Given the description of an element on the screen output the (x, y) to click on. 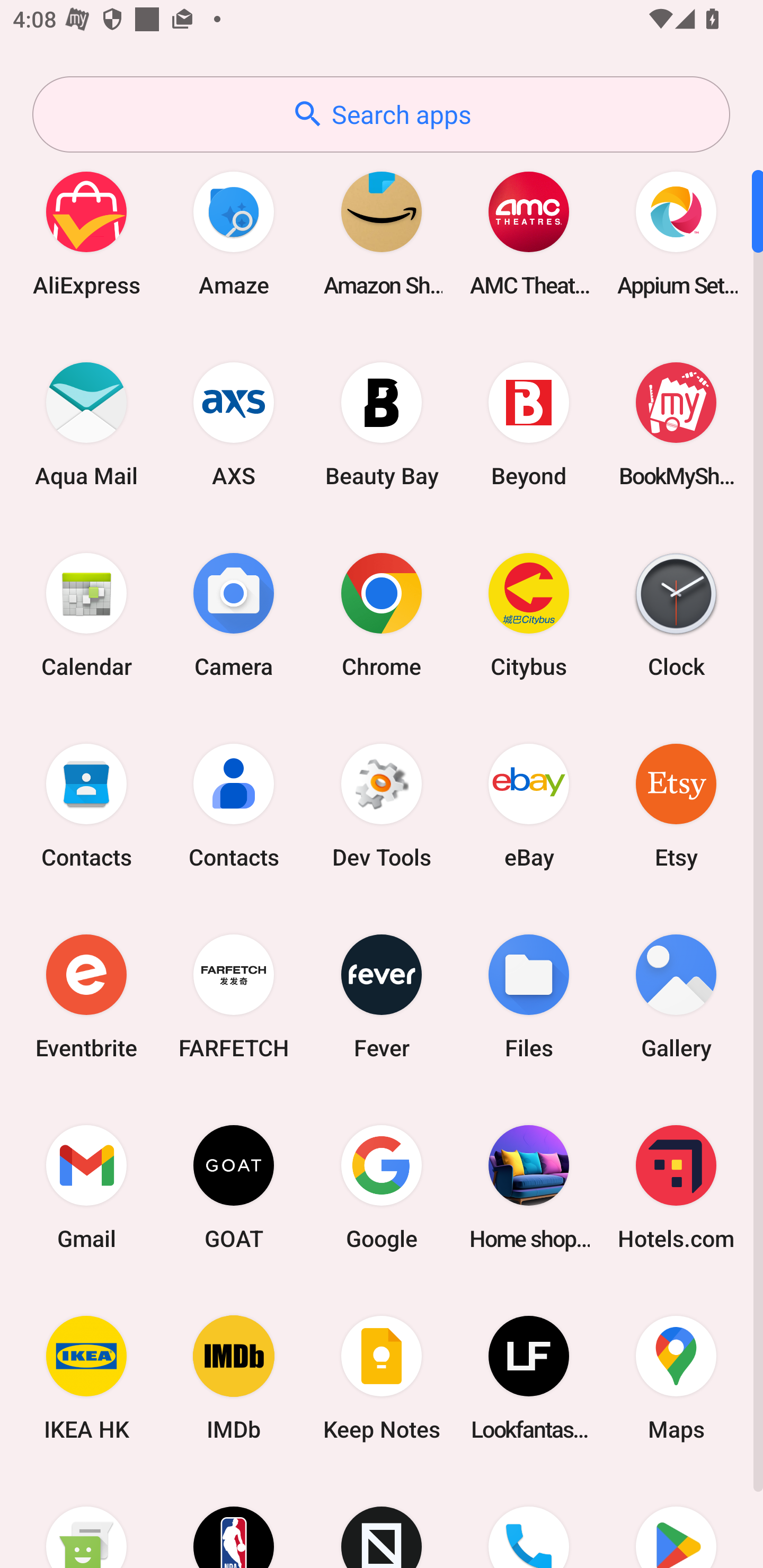
  Search apps (381, 114)
AliExpress (86, 233)
Amaze (233, 233)
Amazon Shopping (381, 233)
AMC Theatres (528, 233)
Appium Settings (676, 233)
Aqua Mail (86, 424)
AXS (233, 424)
Beauty Bay (381, 424)
Beyond (528, 424)
BookMyShow (676, 424)
Calendar (86, 614)
Camera (233, 614)
Chrome (381, 614)
Citybus (528, 614)
Clock (676, 614)
Contacts (86, 805)
Contacts (233, 805)
Dev Tools (381, 805)
eBay (528, 805)
Etsy (676, 805)
Eventbrite (86, 996)
FARFETCH (233, 996)
Fever (381, 996)
Files (528, 996)
Gallery (676, 996)
Gmail (86, 1186)
GOAT (233, 1186)
Google (381, 1186)
Home shopping (528, 1186)
Hotels.com (676, 1186)
IKEA HK (86, 1377)
IMDb (233, 1377)
Keep Notes (381, 1377)
Lookfantastic (528, 1377)
Maps (676, 1377)
